Given the description of an element on the screen output the (x, y) to click on. 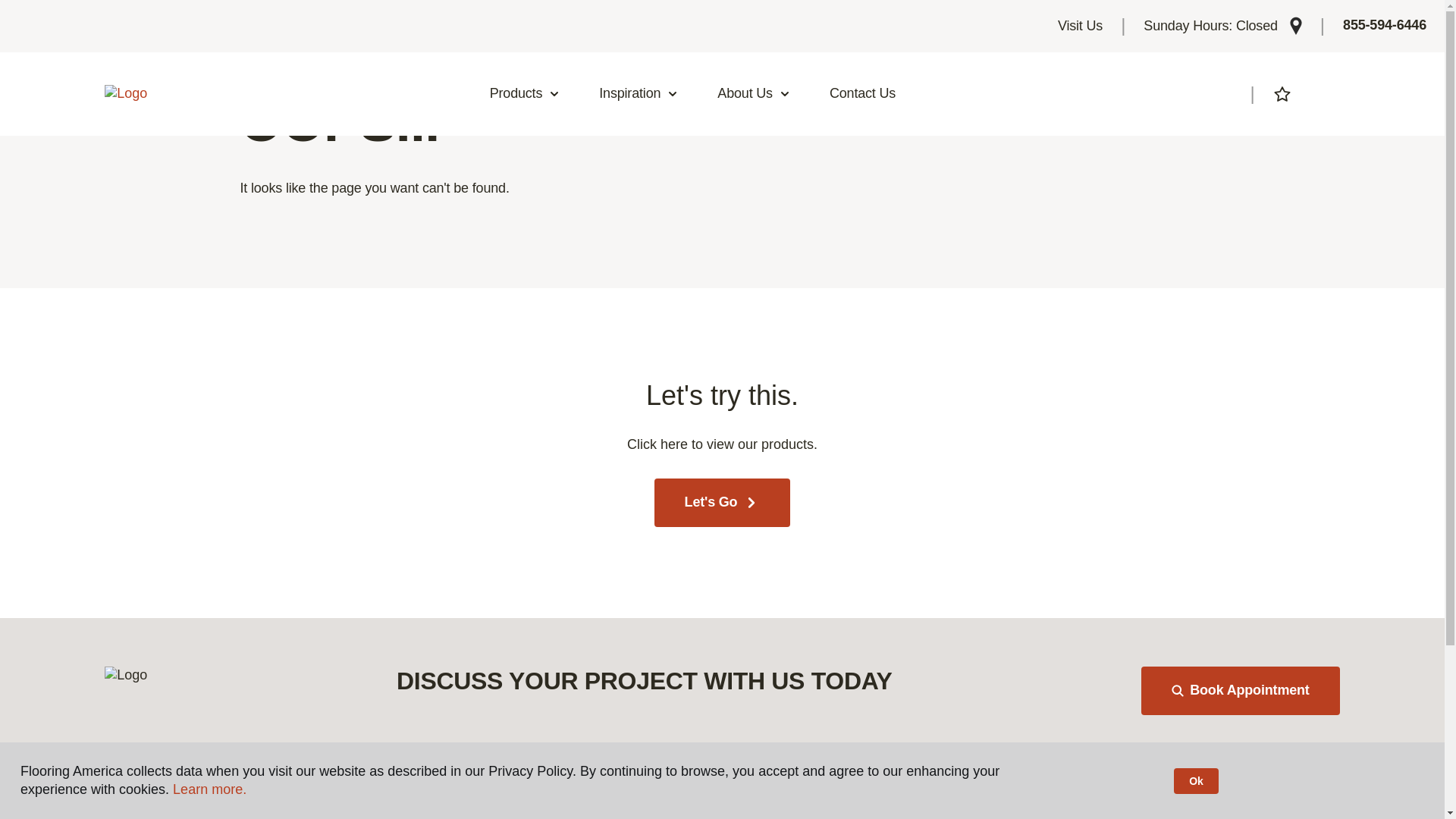
Products (525, 94)
About Us (753, 94)
Visit Us (1080, 26)
Contact Us (862, 94)
855-594-6446 (1384, 25)
Inspiration (638, 94)
